Given the description of an element on the screen output the (x, y) to click on. 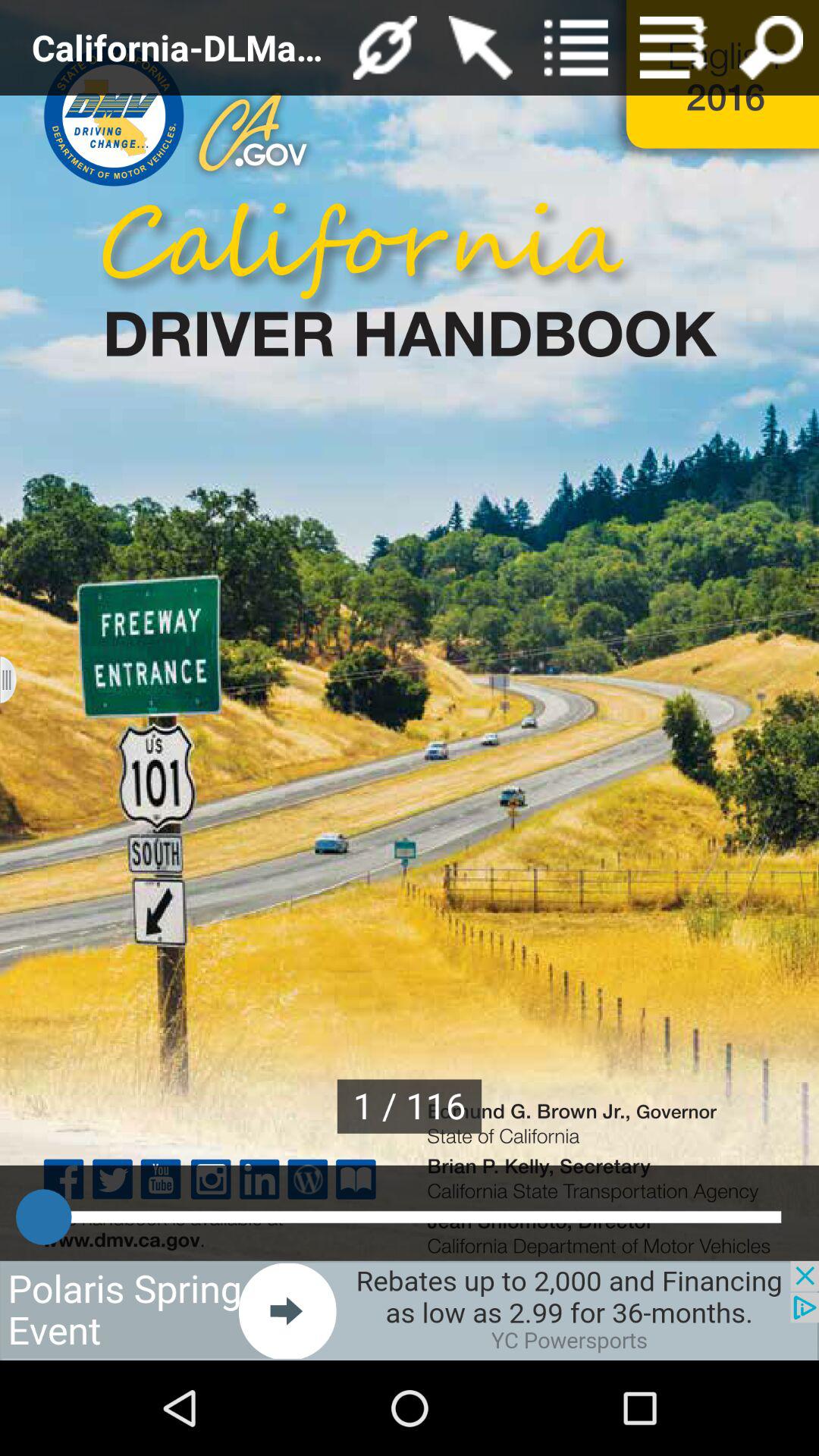
click on the advertisement (409, 1310)
